Given the description of an element on the screen output the (x, y) to click on. 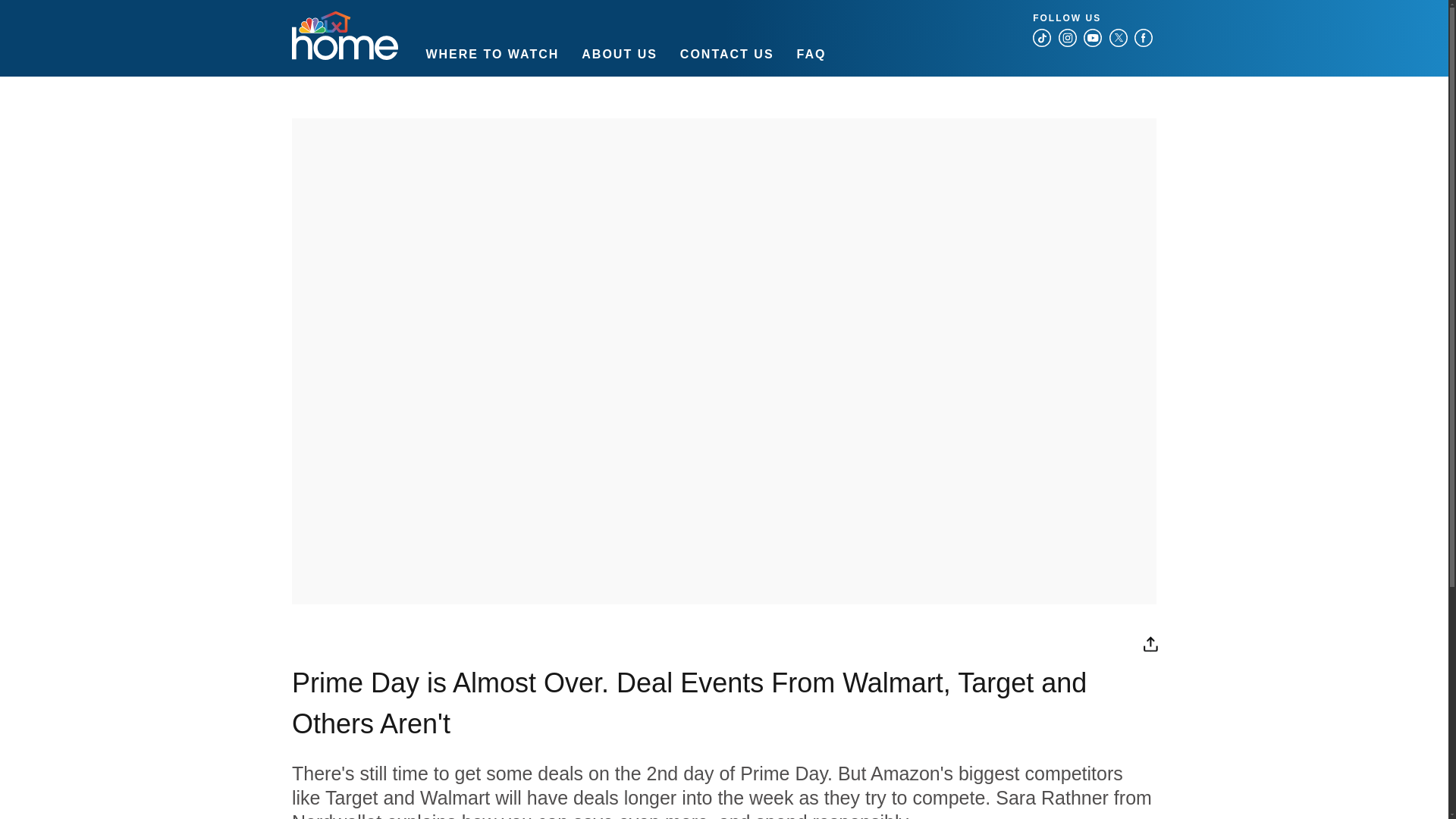
Youtube (1092, 37)
CONTACT US (726, 53)
Twitter (1117, 37)
WHERE TO WATCH (492, 53)
Facebook (1143, 37)
FAQ (811, 53)
TikTok (1041, 37)
Instagram (1067, 37)
ABOUT US (619, 53)
